Given the description of an element on the screen output the (x, y) to click on. 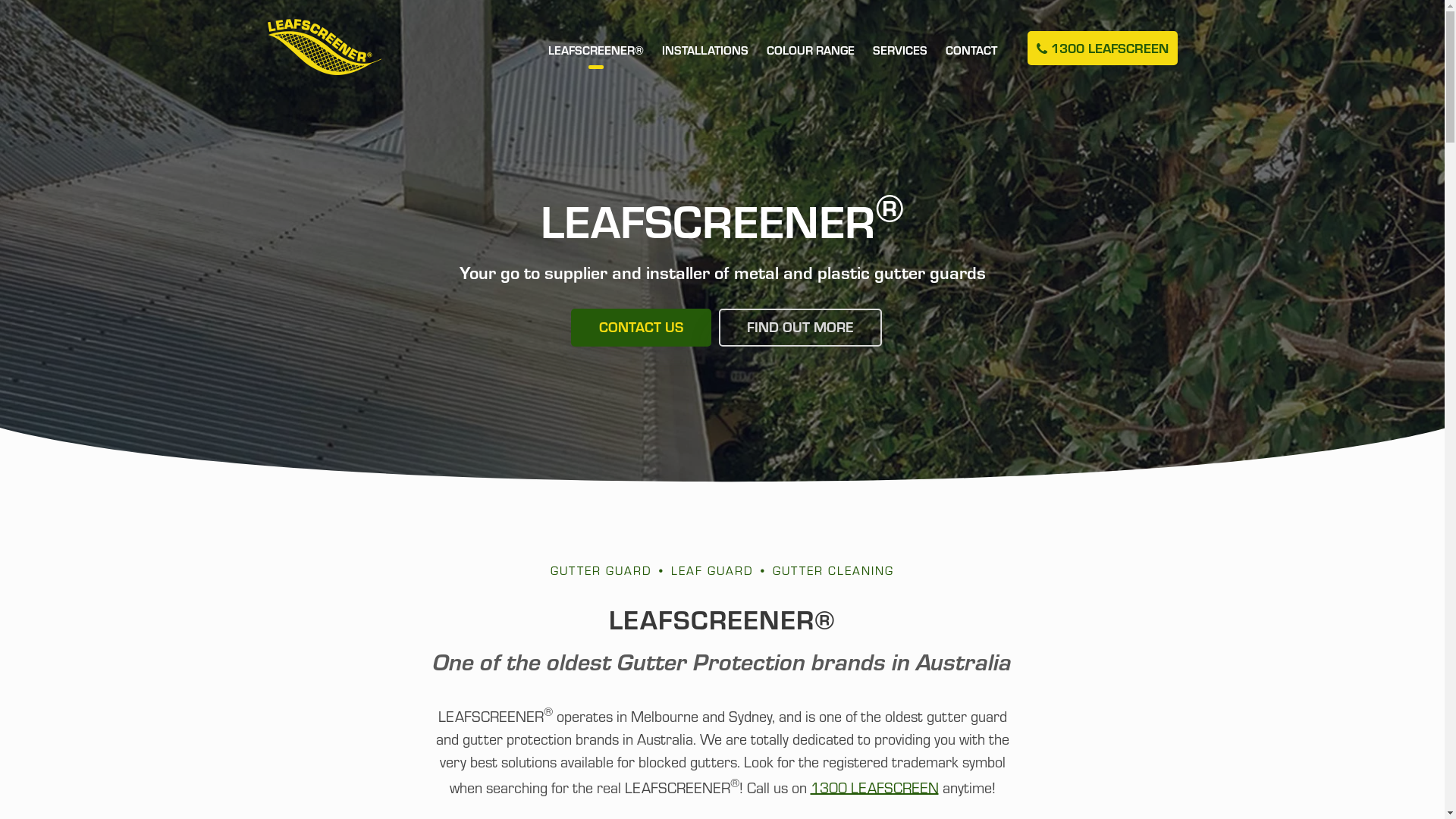
SERVICES Element type: text (899, 63)
FIND OUT MORE Element type: text (799, 327)
CONTACT US Element type: text (640, 327)
COLOUR RANGE Element type: text (809, 63)
CONTACT Element type: text (970, 63)
1300 LEAFSCREEN Element type: text (873, 785)
INSTALLATIONS Element type: text (704, 63)
1300 LEAFSCREEN Element type: text (1101, 48)
